Given the description of an element on the screen output the (x, y) to click on. 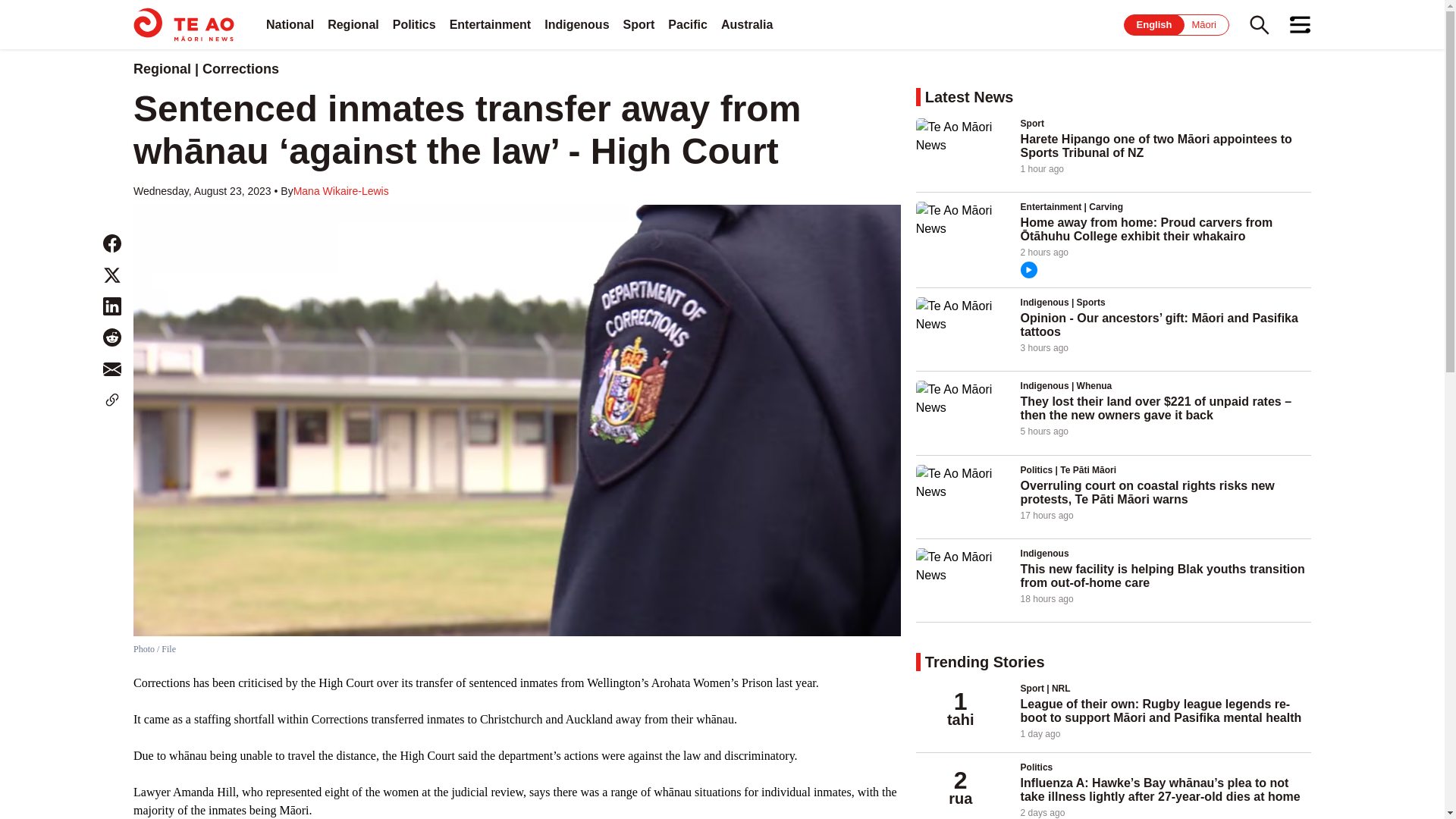
Sport (639, 24)
Politics (414, 24)
Indigenous (576, 24)
National (290, 24)
Entertainment (490, 24)
Pacific (687, 24)
Regional (352, 24)
English (1154, 24)
Mana Wikaire-Lewis (341, 191)
Australia (746, 24)
Copy SocialLink (111, 399)
